Given the description of an element on the screen output the (x, y) to click on. 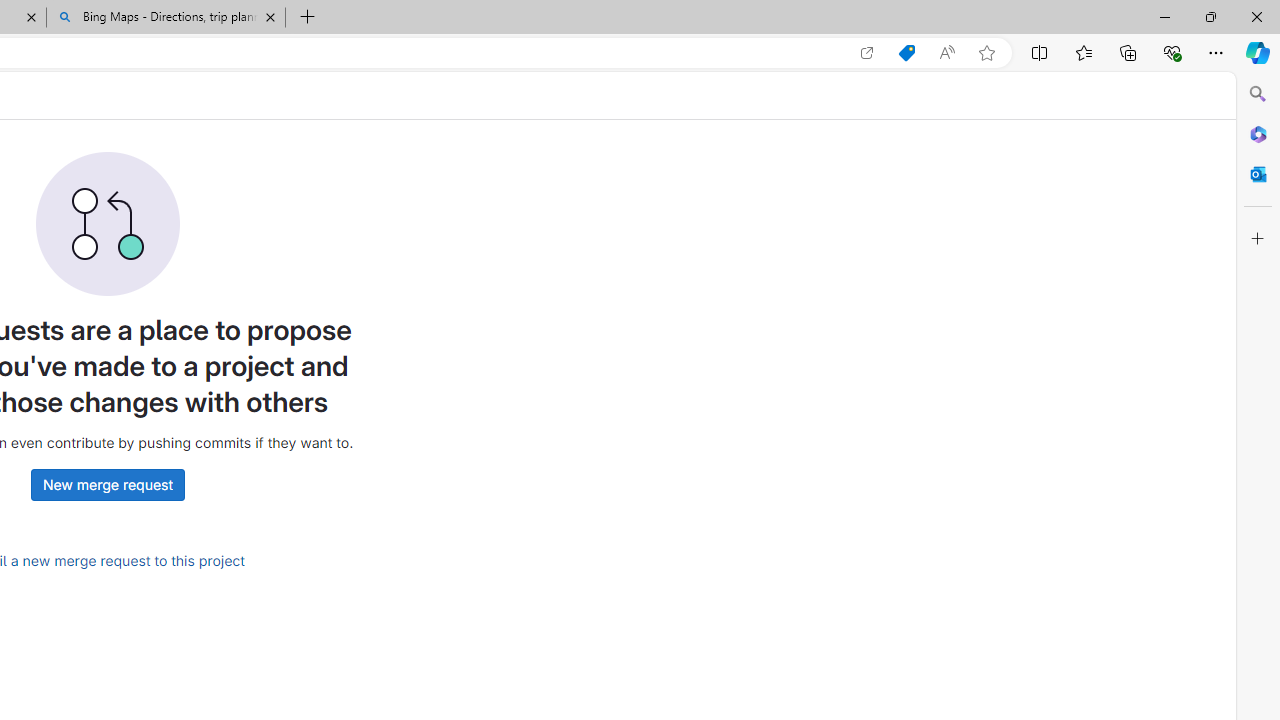
Shopping in Microsoft Edge (906, 53)
